Given the description of an element on the screen output the (x, y) to click on. 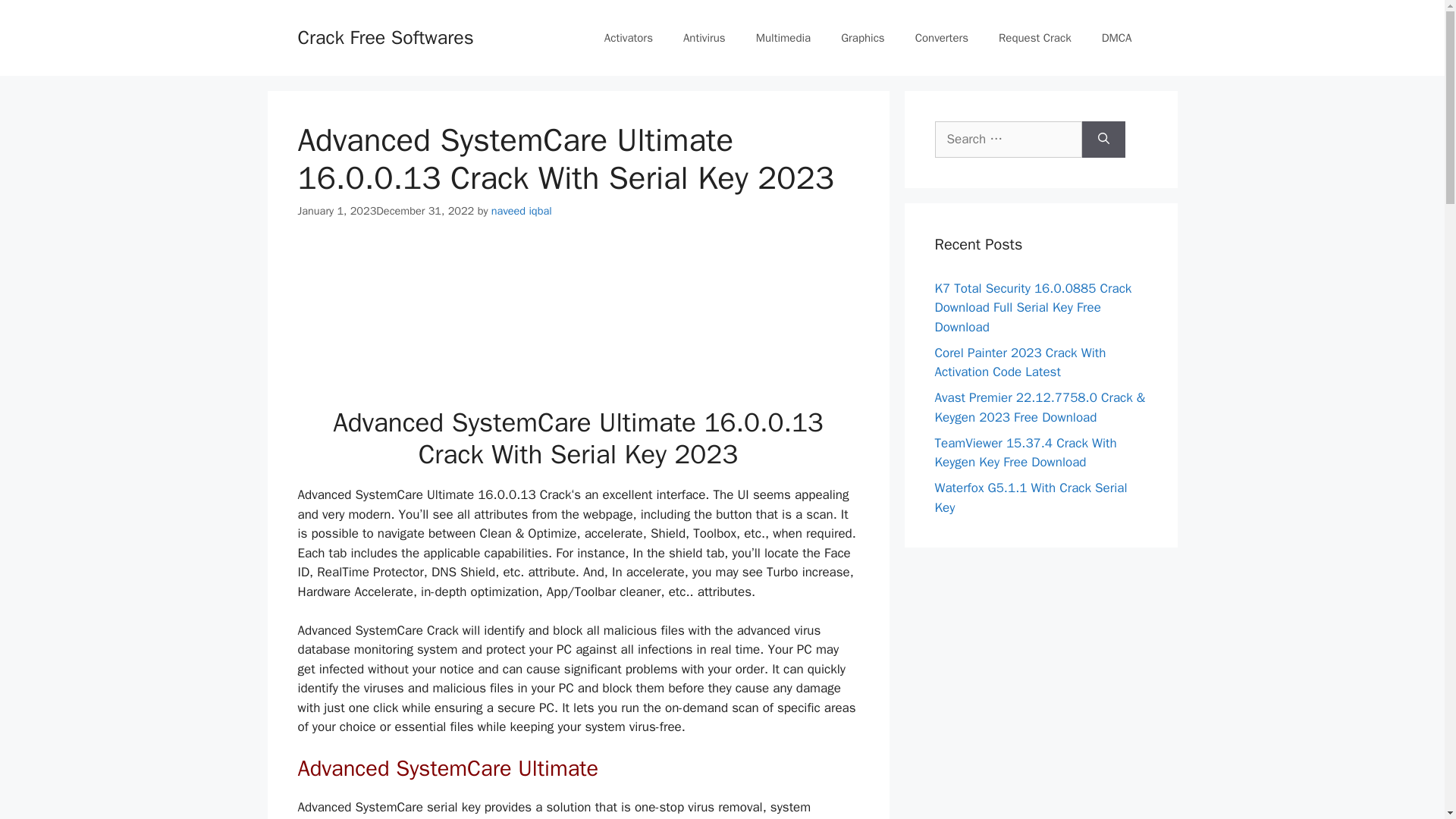
TeamViewer 15.37.4 Crack With Keygen Key Free Download (1025, 452)
Crack Free Softwares (385, 37)
Antivirus (704, 37)
naveed iqbal (521, 210)
Converters (941, 37)
Waterfox G5.1.1 With Crack Serial Key (1030, 497)
Request Crack (1035, 37)
Activators (628, 37)
Multimedia (783, 37)
